Given the description of an element on the screen output the (x, y) to click on. 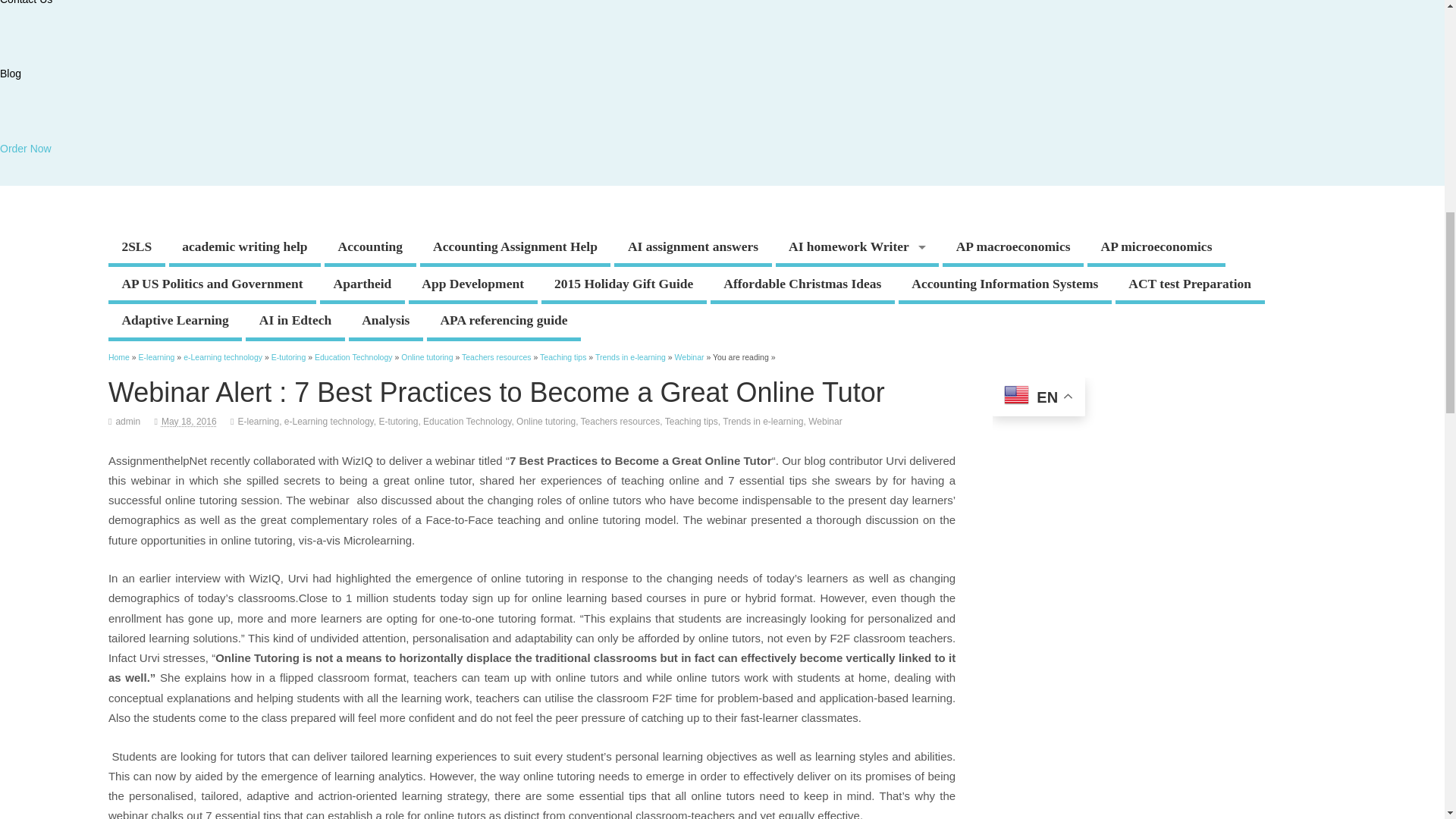
Contact Us (26, 2)
2SLS (136, 248)
2016-05-18T00:43:21-07:00 (188, 421)
Order Now (25, 148)
academic writing help (244, 248)
Accounting (370, 248)
Blog (10, 73)
Posts by admin (127, 421)
